Given the description of an element on the screen output the (x, y) to click on. 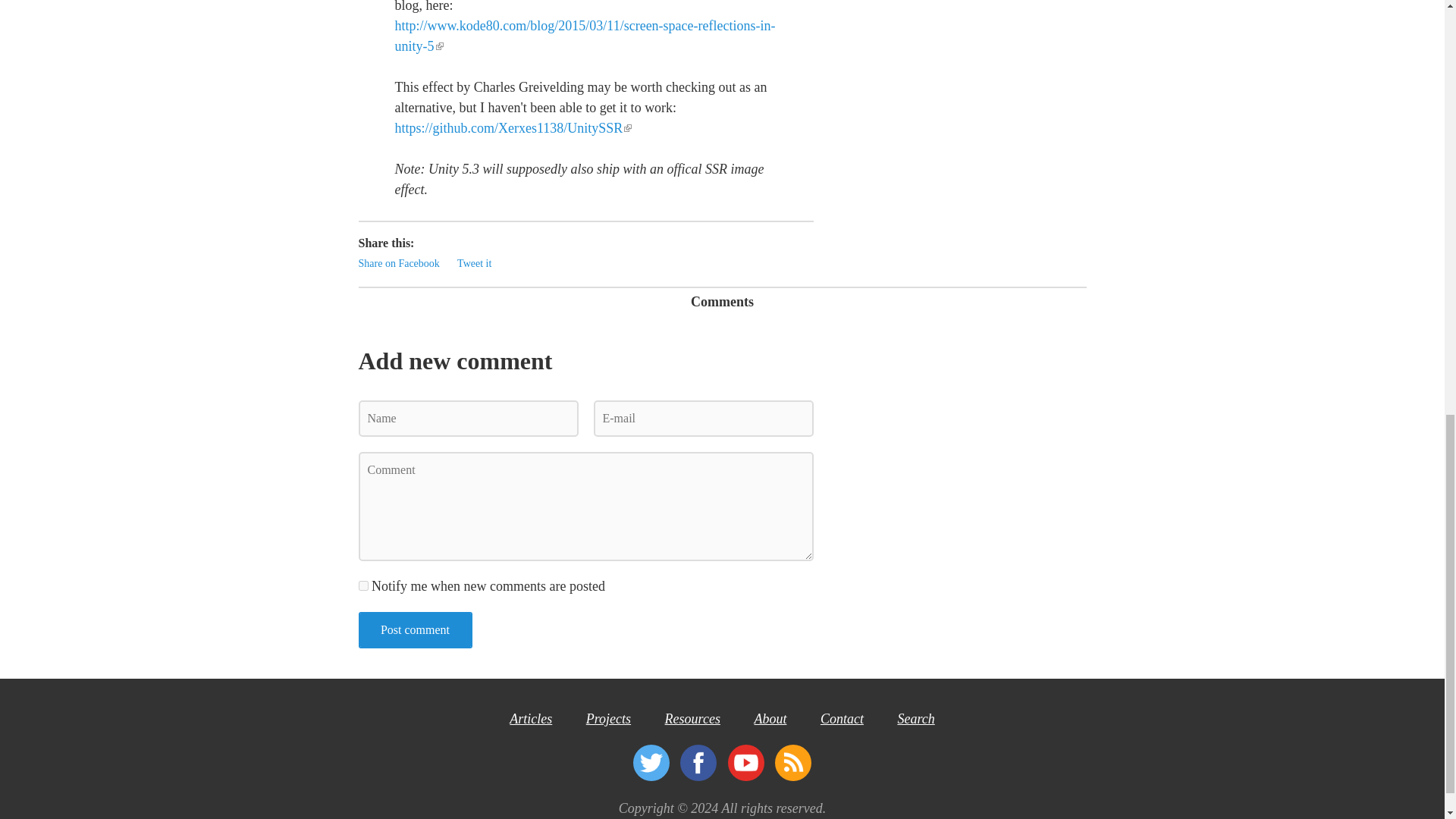
Search (915, 718)
Projects (608, 718)
About (770, 718)
Post comment (414, 629)
1 (363, 585)
Share on Facebook (398, 263)
Post comment (414, 629)
kode80 - Screen Space Reflections in Unity 5 (584, 36)
Articles (530, 718)
Tweet it (474, 263)
Comments (722, 303)
Resources (692, 718)
Contact (842, 718)
